Given the description of an element on the screen output the (x, y) to click on. 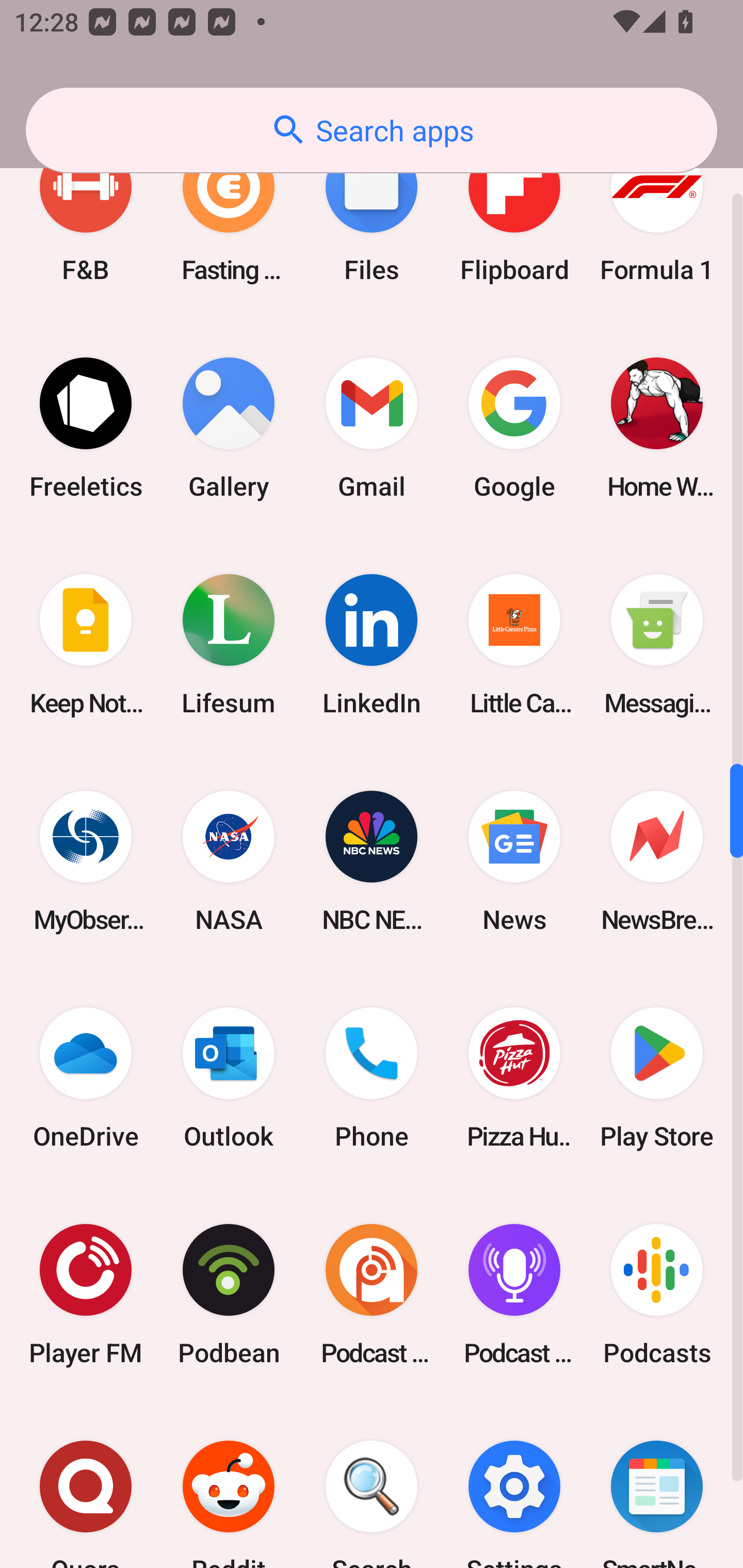
  Search apps (371, 130)
F&B (85, 211)
Fasting Coach (228, 211)
Files (371, 211)
Flipboard (514, 211)
Formula 1 (656, 211)
Freeletics (85, 427)
Gallery (228, 427)
Gmail (371, 427)
Google (514, 427)
Home Workout (656, 427)
Keep Notes (85, 644)
Lifesum (228, 644)
LinkedIn (371, 644)
Little Caesars Pizza (514, 644)
Messaging (656, 644)
MyObservatory (85, 860)
NASA (228, 860)
NBC NEWS (371, 860)
News (514, 860)
NewsBreak (656, 860)
OneDrive (85, 1077)
Outlook (228, 1077)
Phone (371, 1077)
Pizza Hut HK & Macau (514, 1077)
Play Store (656, 1077)
Player FM (85, 1294)
Podbean (228, 1294)
Podcast Addict (371, 1294)
Podcast Player (514, 1294)
Podcasts (656, 1294)
Quora (85, 1485)
Reddit (228, 1485)
Search (371, 1485)
Settings (514, 1485)
SmartNews (656, 1485)
